Given the description of an element on the screen output the (x, y) to click on. 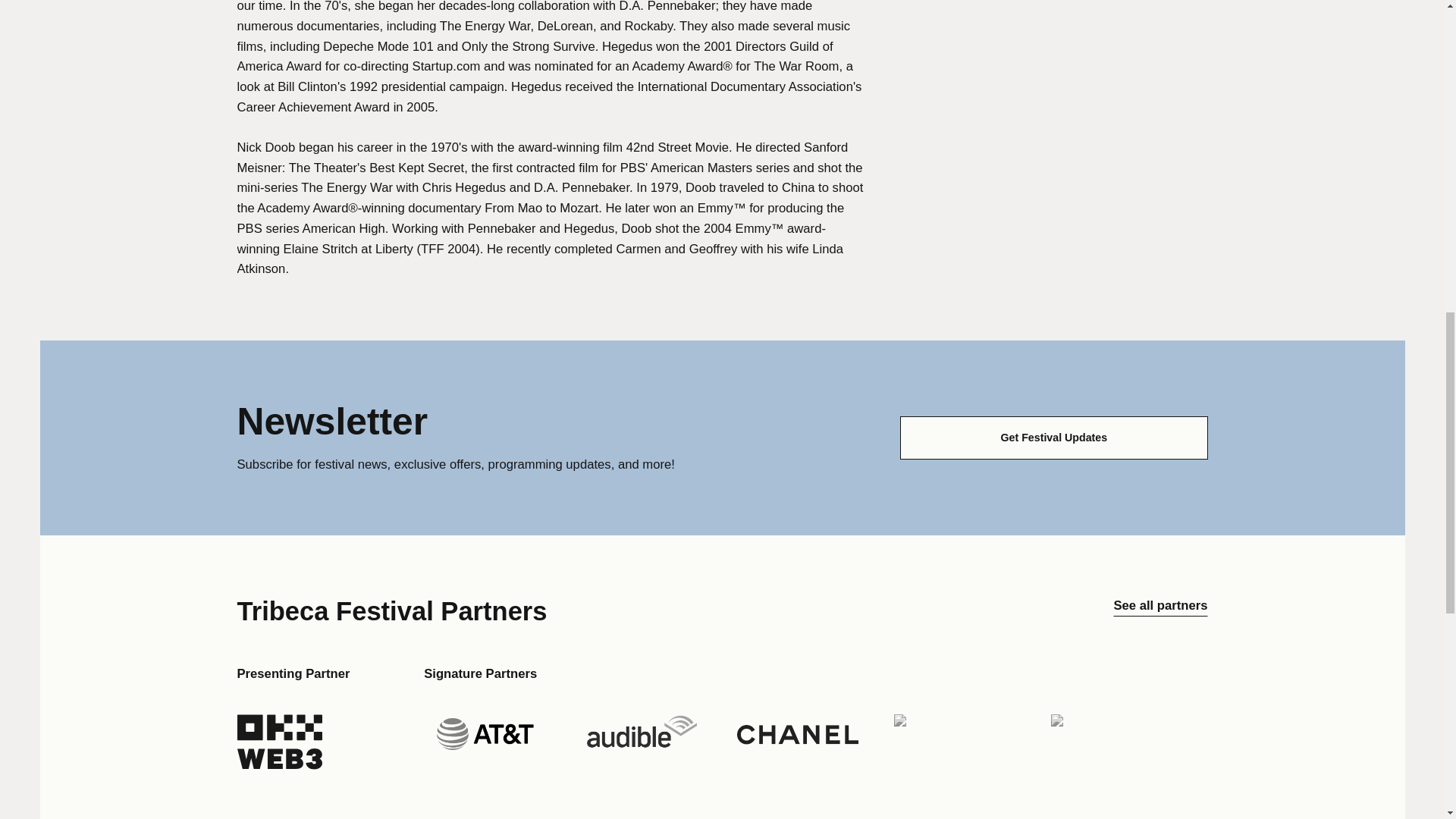
See all partners (1160, 611)
Get Festival Updates (1053, 437)
